Given the description of an element on the screen output the (x, y) to click on. 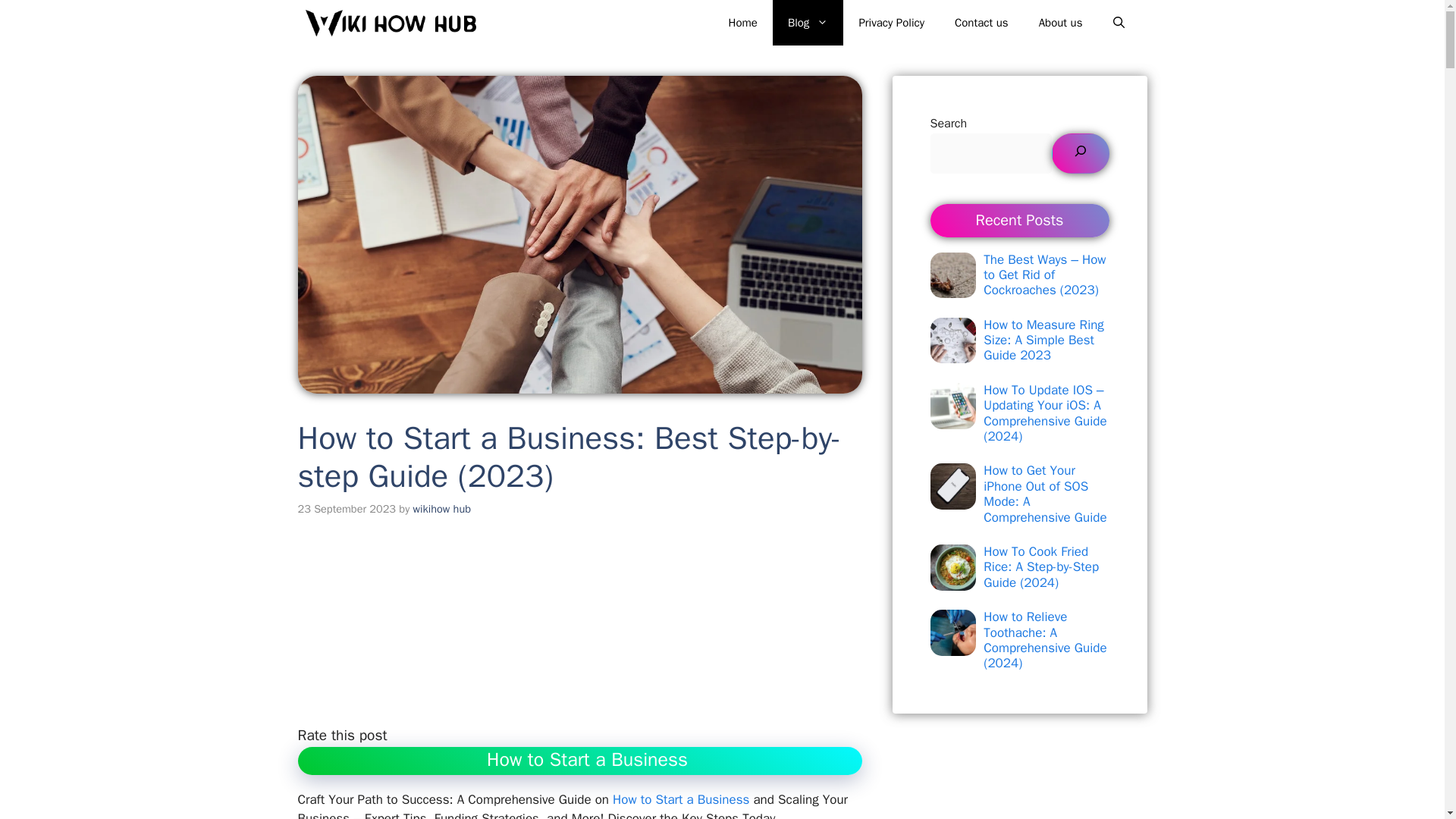
About us (1060, 22)
View all posts by wikihow hub (441, 508)
How to Start a Business (680, 799)
wikihowhub (390, 22)
Blog (808, 22)
Privacy Policy (891, 22)
Contact us (981, 22)
wikihow hub (441, 508)
Home (743, 22)
